Given the description of an element on the screen output the (x, y) to click on. 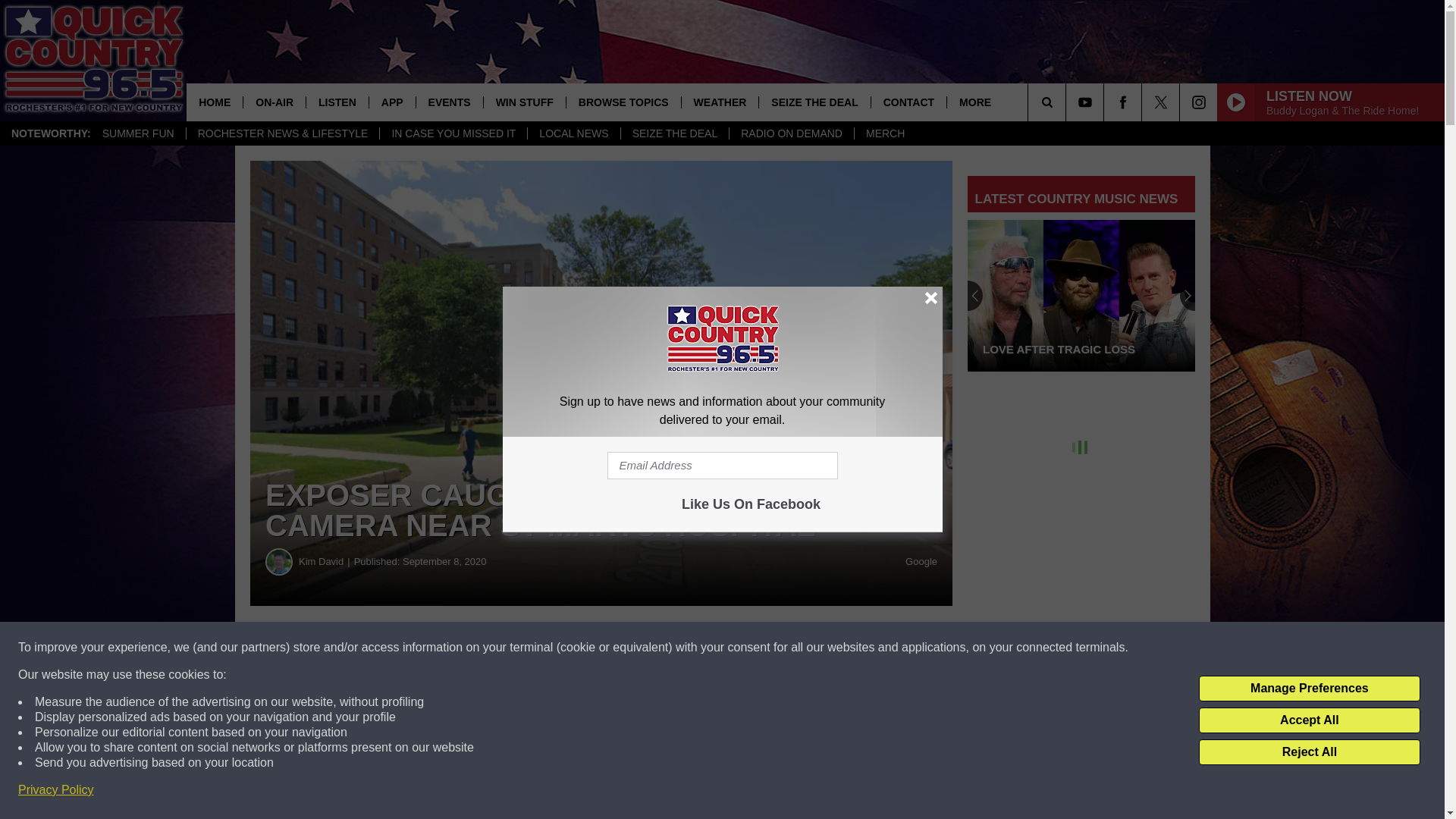
Share on Twitter (741, 647)
SUMMER FUN (138, 133)
MERCH (884, 133)
Reject All (1309, 751)
SEARCH (1068, 102)
Email Address (722, 465)
Share on Facebook (460, 647)
ON-AIR (274, 102)
RADIO ON DEMAND (791, 133)
Accept All (1309, 720)
Manage Preferences (1309, 688)
IN CASE YOU MISSED IT (452, 133)
SEARCH (1068, 102)
EVENTS (448, 102)
LISTEN (336, 102)
